Given the description of an element on the screen output the (x, y) to click on. 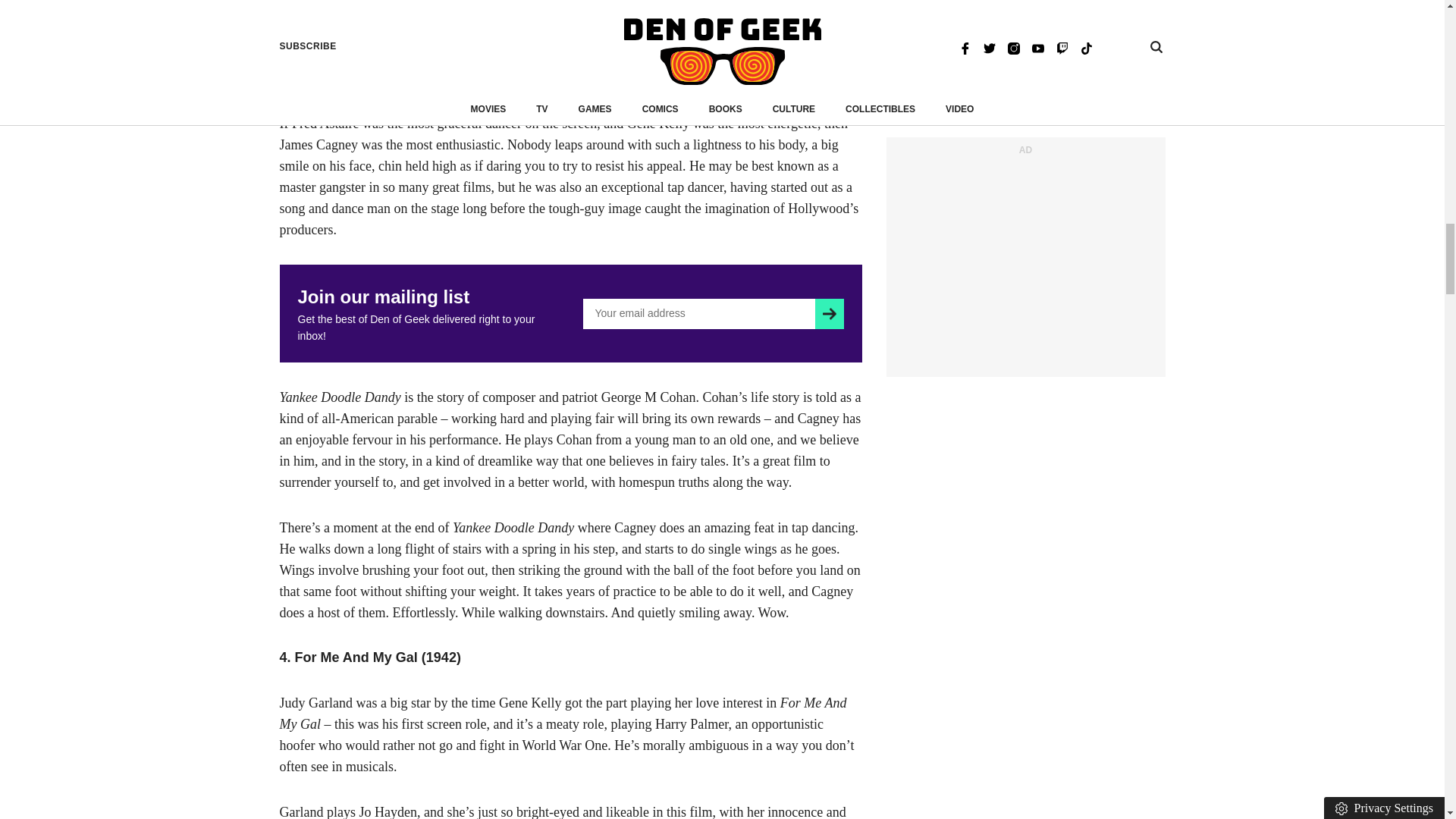
Subscribe (829, 313)
